Given the description of an element on the screen output the (x, y) to click on. 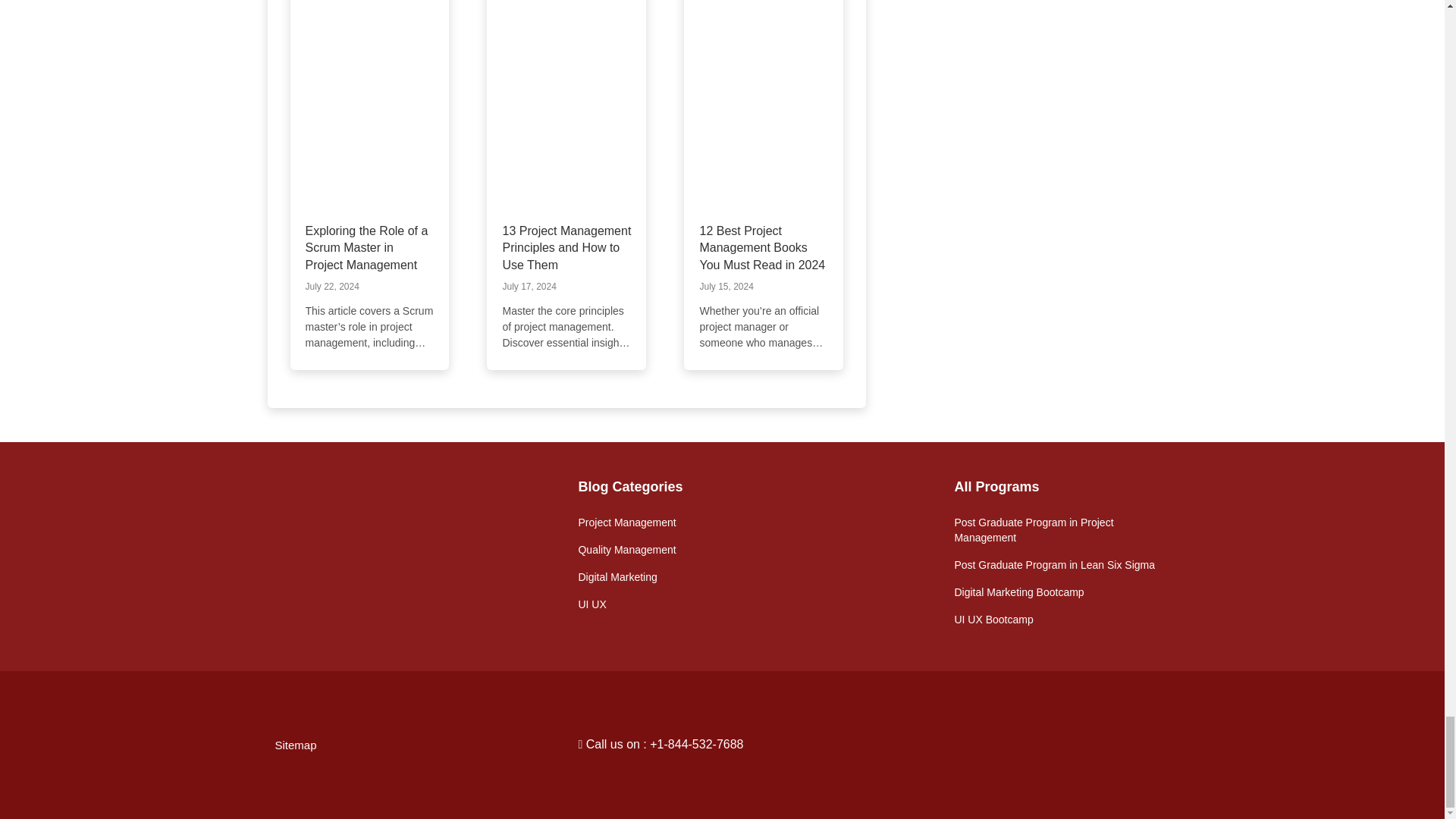
Quality Management (626, 549)
13 Project Management Principles and How to Use Them (566, 247)
12 Best Project Management Books You Must Read in 2024 (761, 247)
Project Management (626, 522)
Exploring the Role of a Scrum Master in Project Management (366, 247)
